Given the description of an element on the screen output the (x, y) to click on. 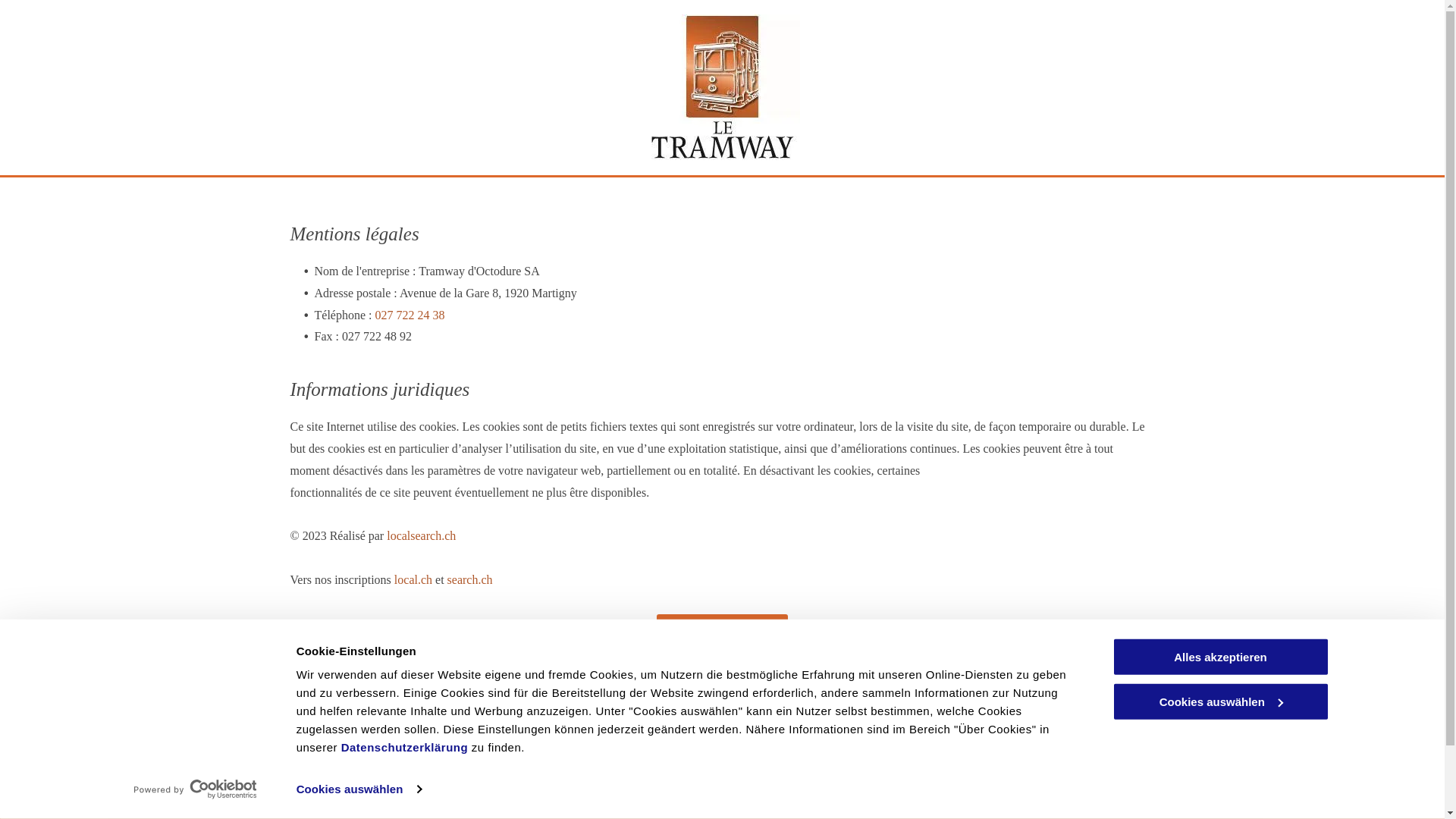
search.ch Element type: text (469, 579)
localsearch.ch Element type: text (420, 535)
027 722 24 38 Element type: text (409, 314)
Alles akzeptieren Element type: text (1219, 656)
jacquelinepravato@hotmail.com Element type: text (813, 767)
027 722 24 38 Element type: text (546, 767)
local.ch Element type: text (413, 579)
076 318 24 38 Element type: text (546, 787)
